Given the description of an element on the screen output the (x, y) to click on. 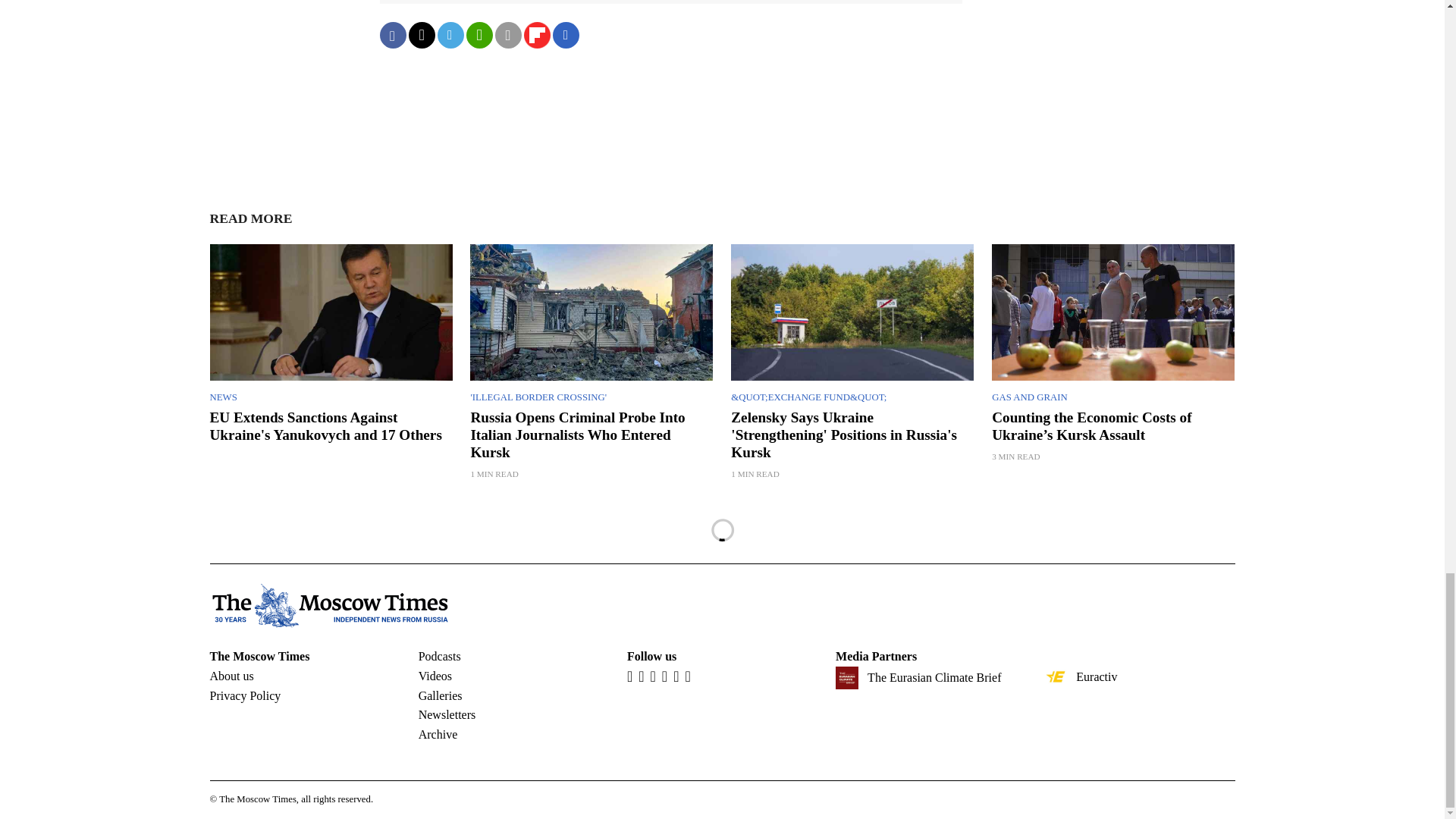
Share on Telegram (449, 35)
Share on Facebook (392, 35)
Share on Flipboard (536, 35)
Share on Twitter (420, 35)
